Given the description of an element on the screen output the (x, y) to click on. 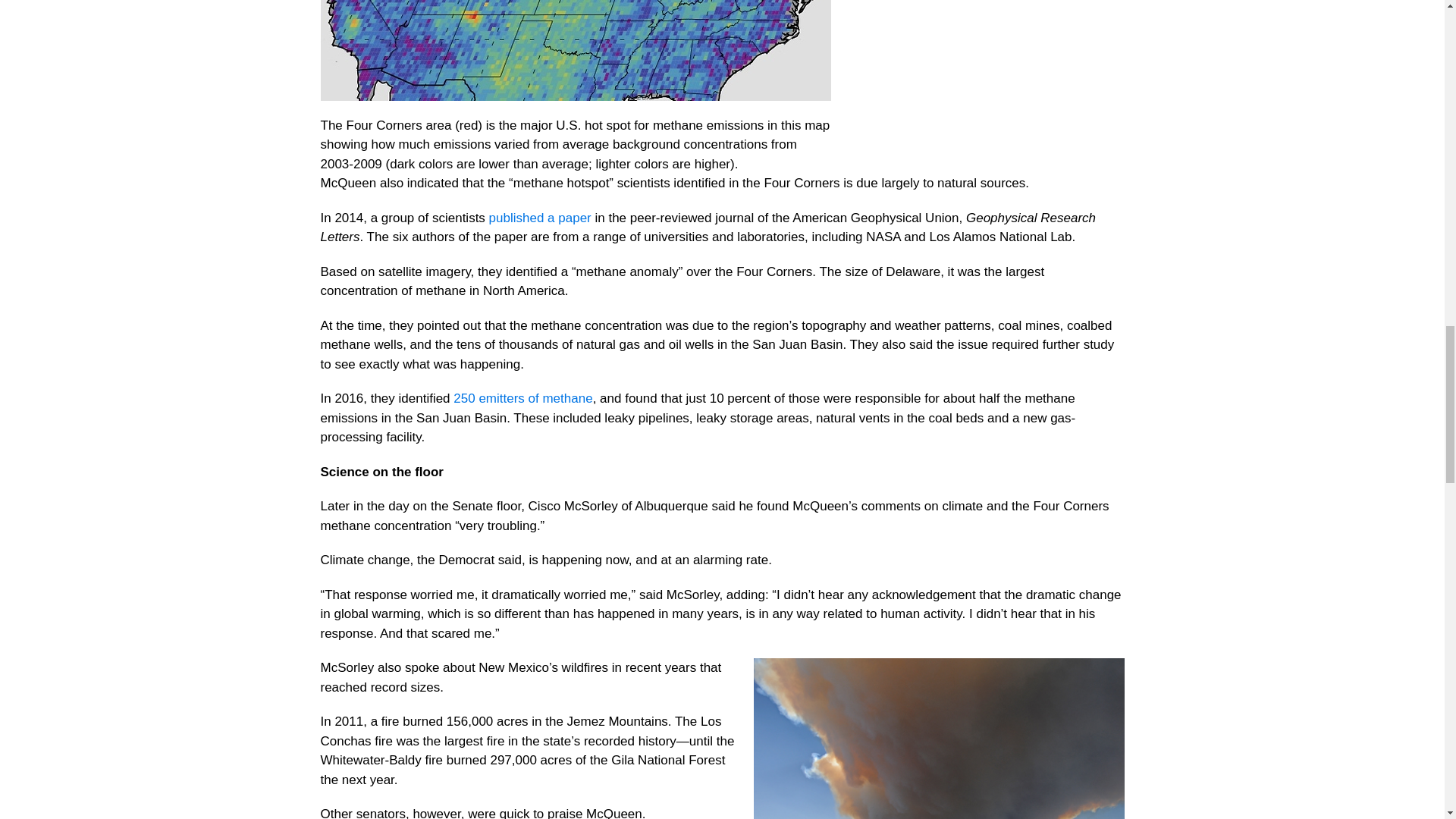
published a paper (540, 217)
250 emitters of methane (522, 398)
